Given the description of an element on the screen output the (x, y) to click on. 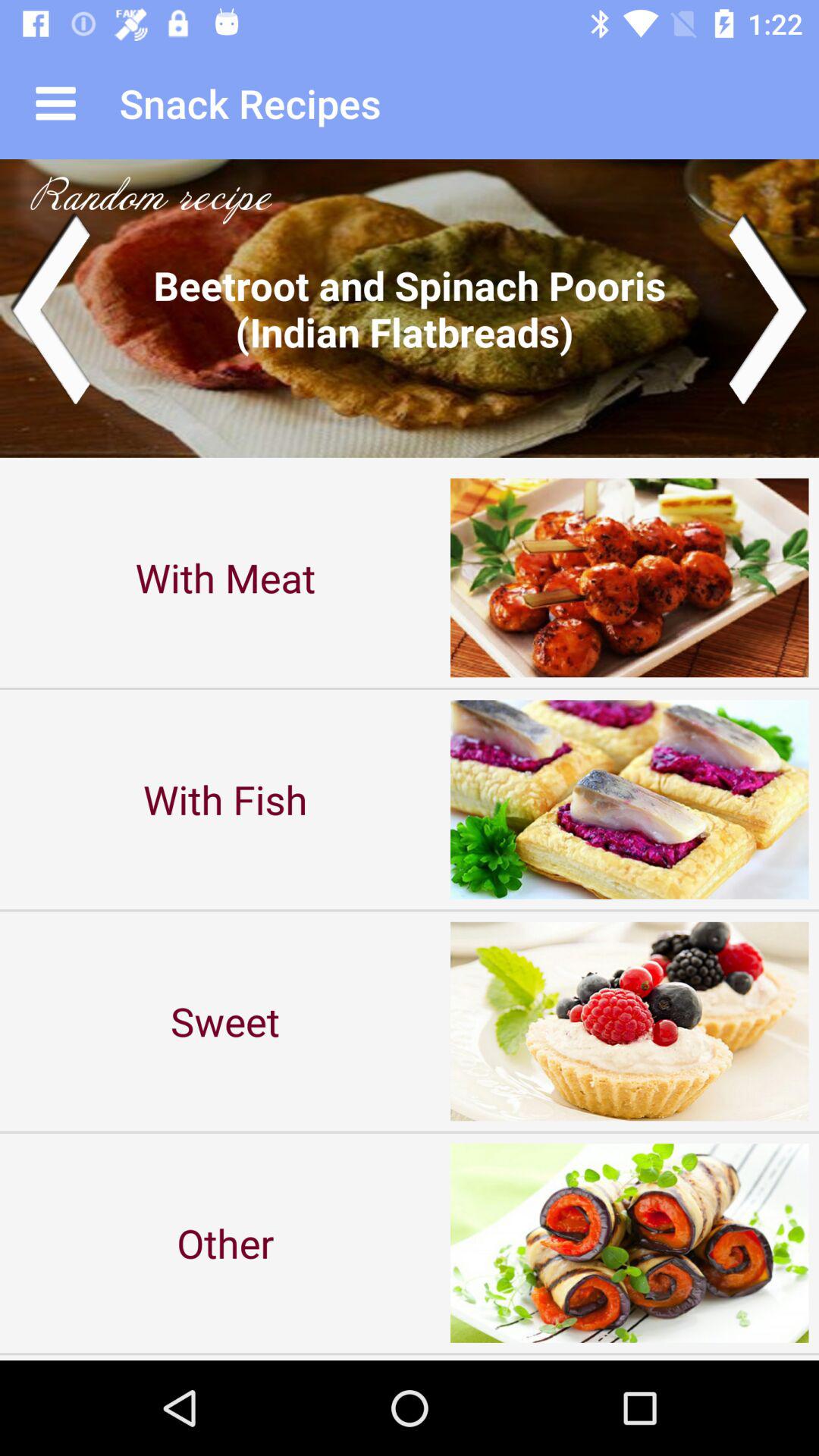
select with meat item (225, 577)
